Given the description of an element on the screen output the (x, y) to click on. 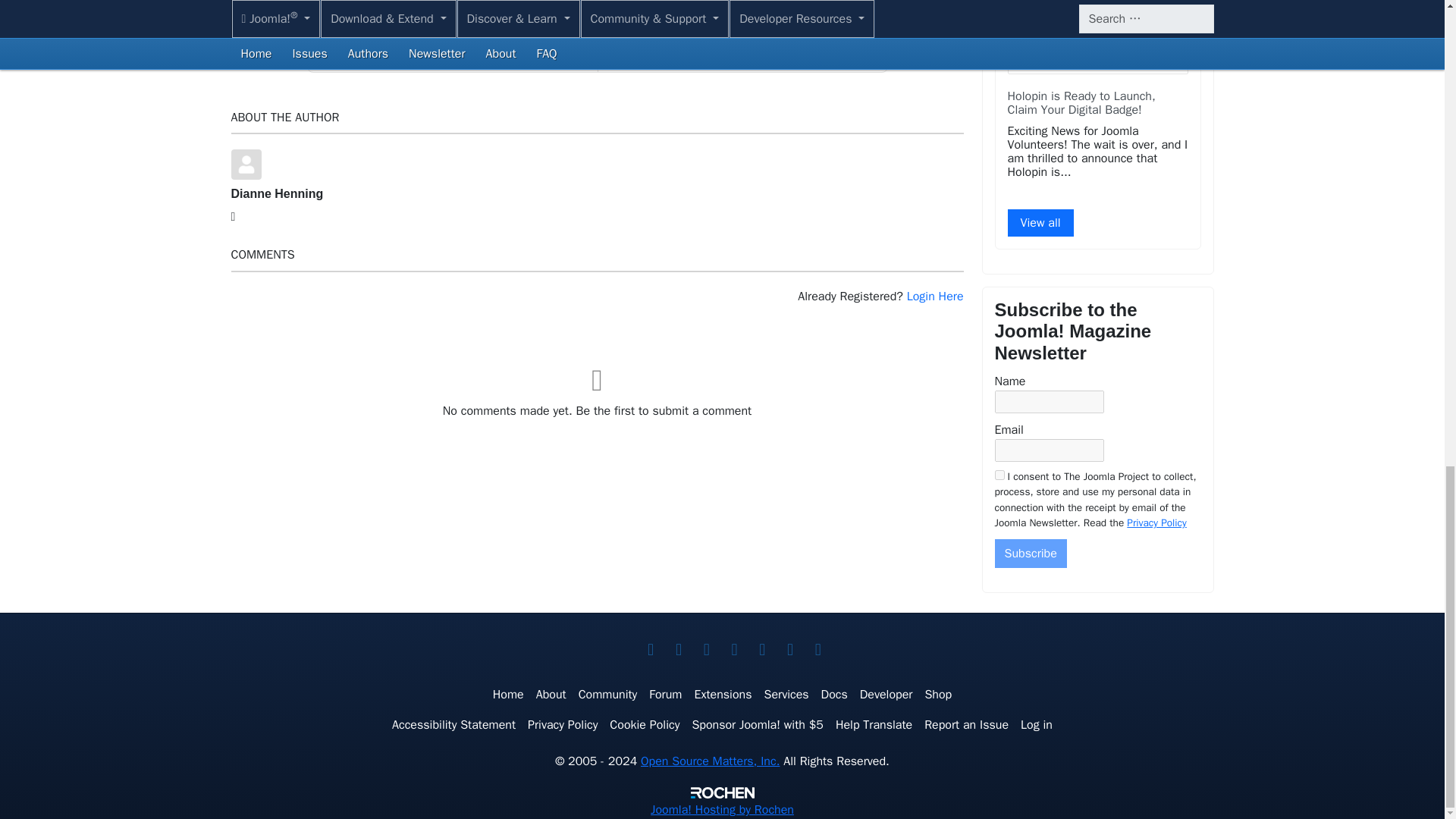
on (999, 474)
Subscribe (1030, 553)
Holopin is Ready to Launch, Claim Your Digital Badge! (1080, 102)
2024---JCM-Template-Holopin (1097, 37)
